Given the description of an element on the screen output the (x, y) to click on. 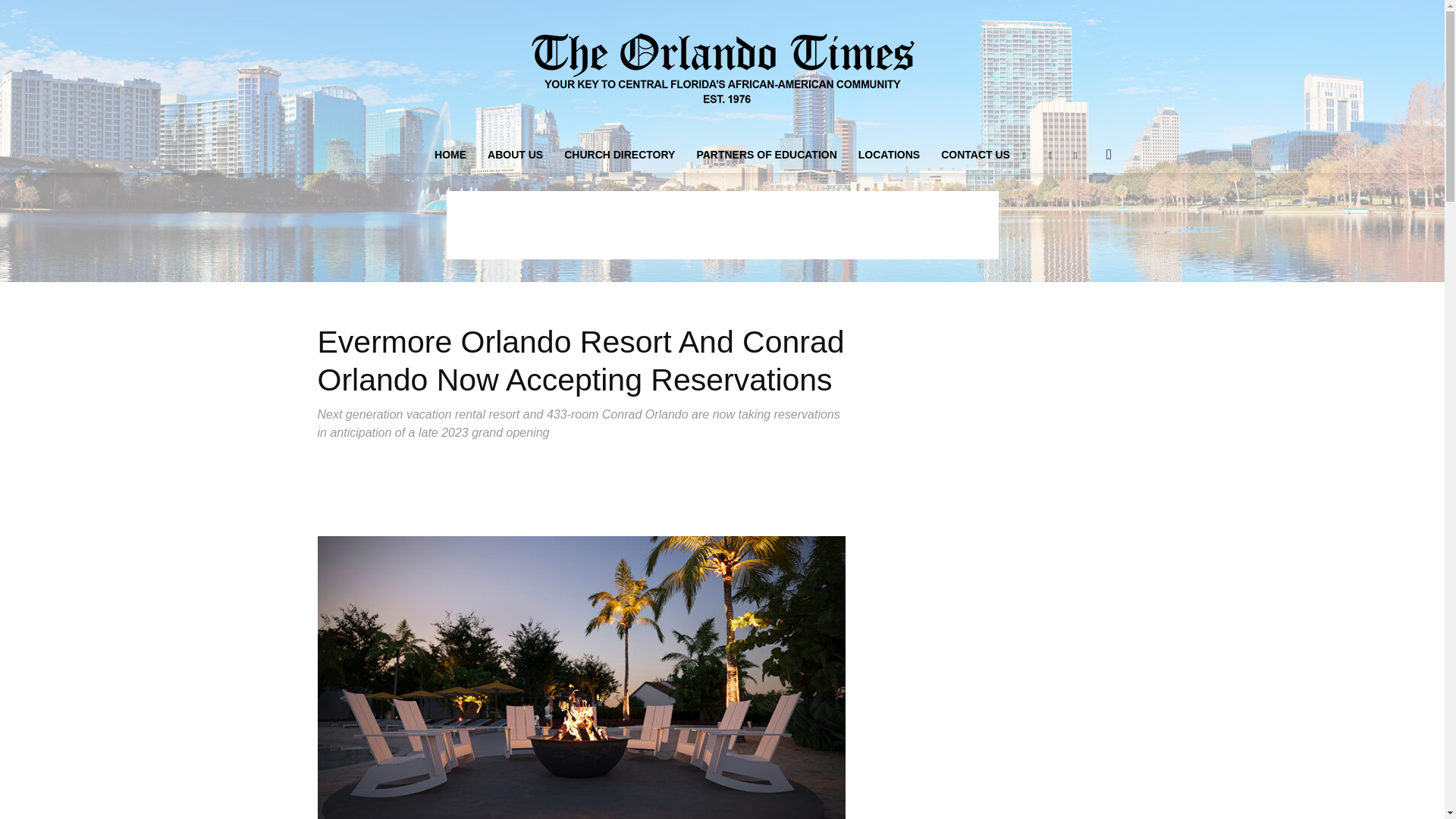
Search (1085, 215)
PARTNERS OF EDUCATION (766, 154)
HOME (450, 154)
The Orlando Times (721, 68)
advertisement (721, 224)
CHURCH DIRECTORY (619, 154)
CONTACT US (975, 154)
LOCATIONS (888, 154)
ABOUT US (515, 154)
